Given the description of an element on the screen output the (x, y) to click on. 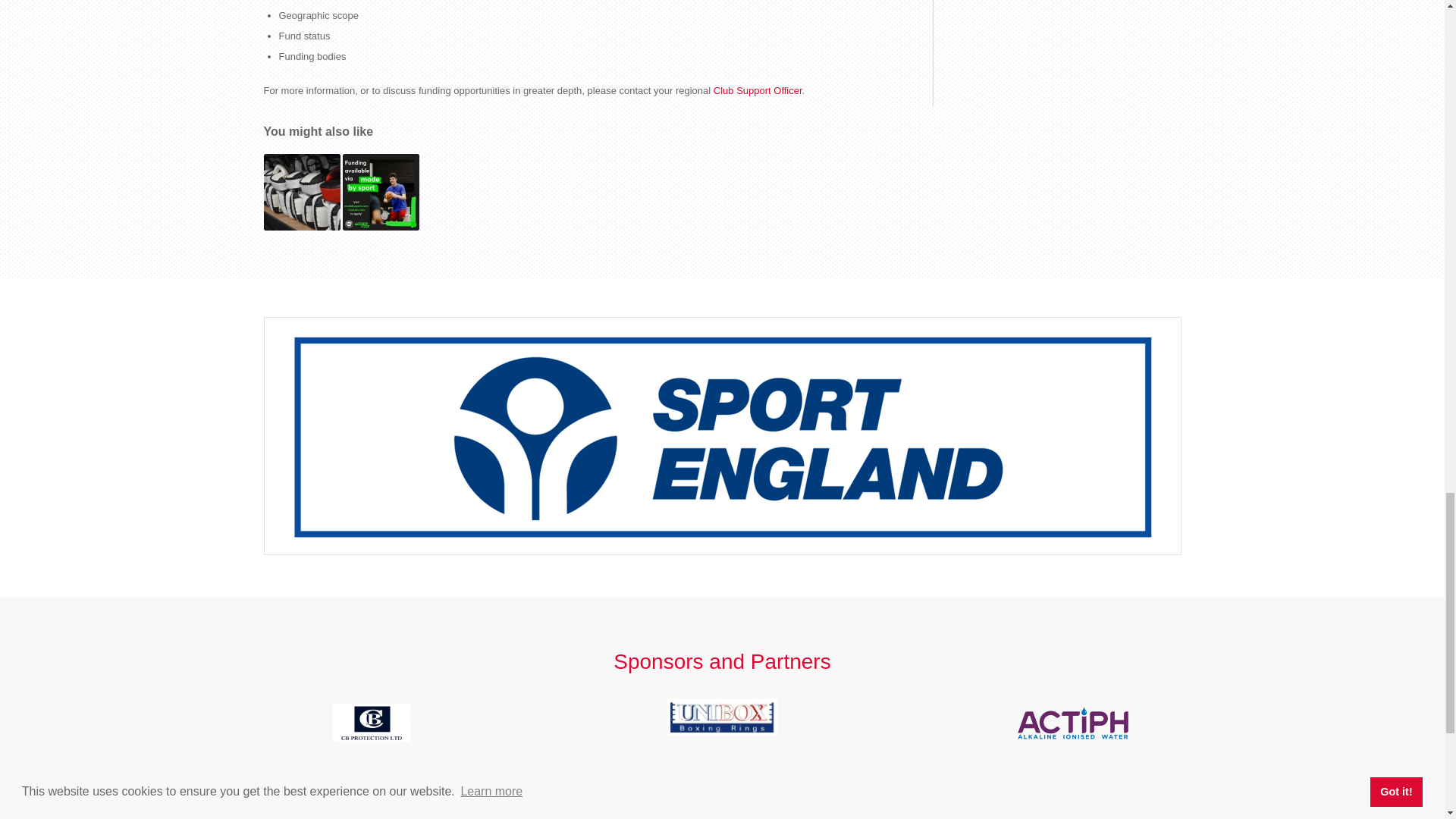
Online seminar to help Level 2 Coaching Course preparations (301, 191)
